Given the description of an element on the screen output the (x, y) to click on. 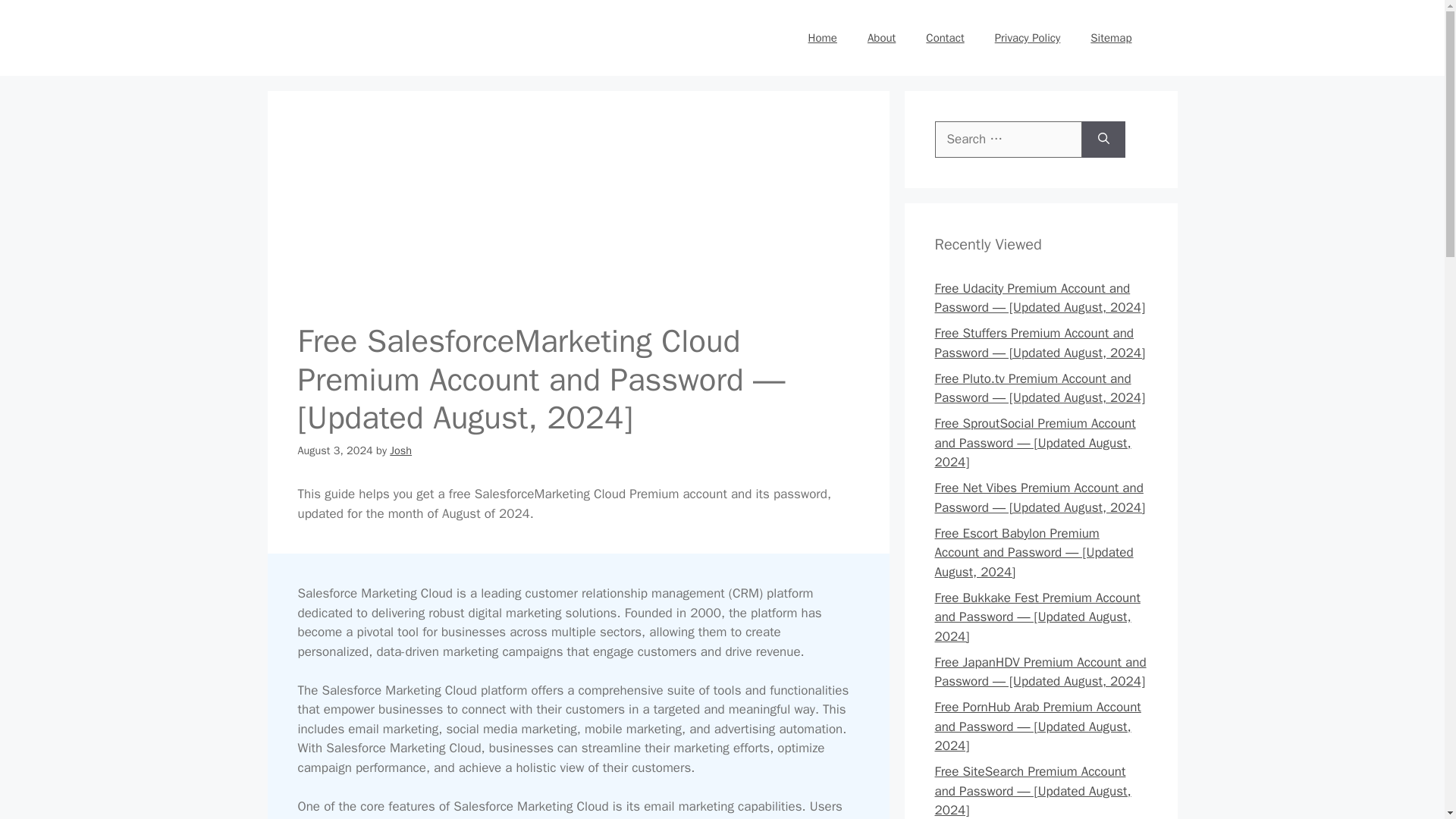
Sitemap (1111, 37)
Passworrrds (380, 37)
About (881, 37)
Home (822, 37)
Search for: (1007, 139)
Privacy Policy (1027, 37)
Josh (401, 450)
Contact (944, 37)
View all posts by Josh (401, 450)
Free SalesforceMarketing Cloud Premium Account and Password (578, 208)
